Given the description of an element on the screen output the (x, y) to click on. 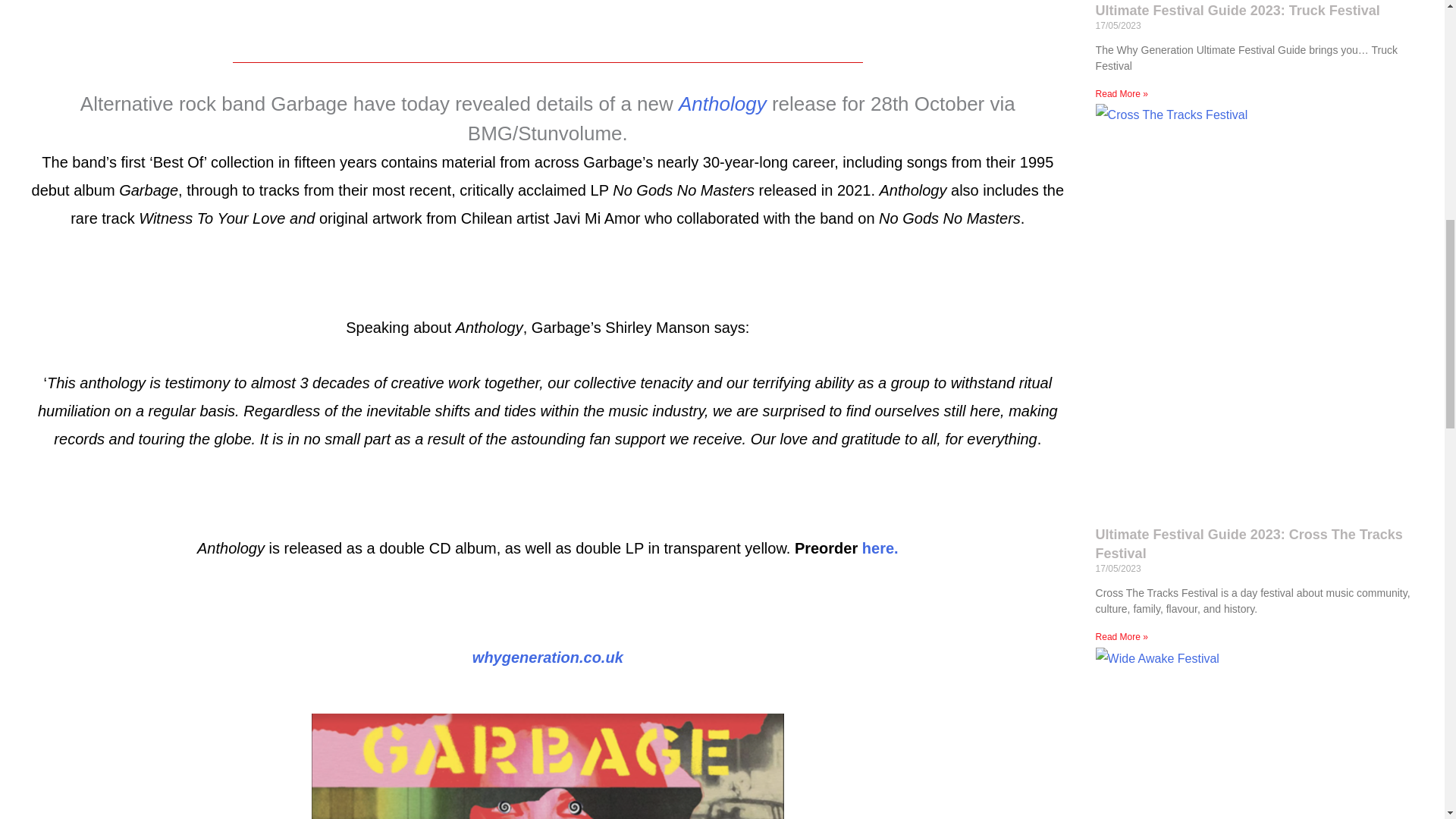
here. (877, 547)
Ultimate Festival Guide 2023: Cross The Tracks Festival (1249, 544)
Anthology (722, 103)
Ultimate Festival Guide 2023: Truck Festival (1238, 10)
whygeneration.co.uk (547, 657)
